Given the description of an element on the screen output the (x, y) to click on. 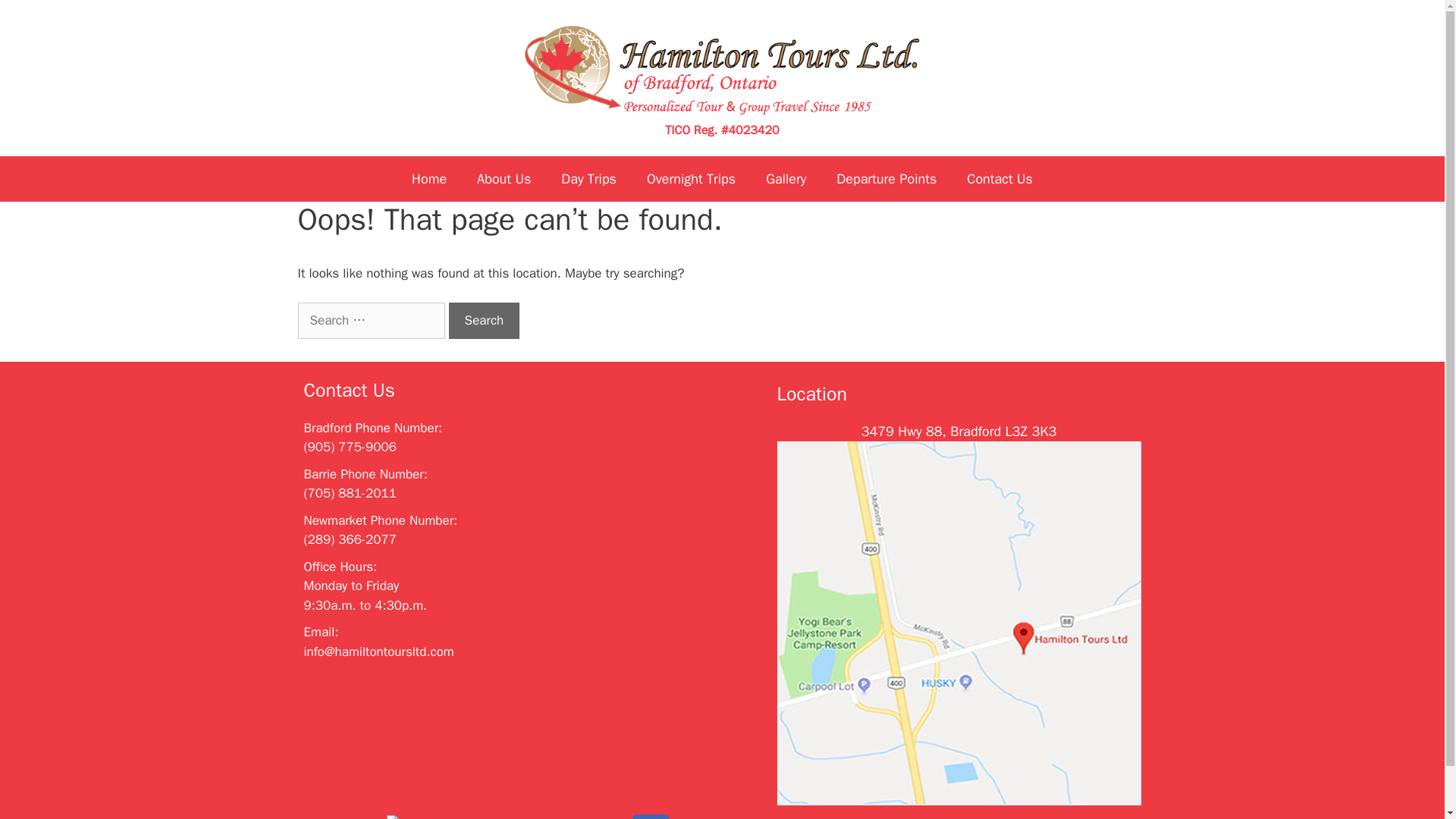
Overnight Trips (691, 178)
Hamilton Tours LTD of Bradford Ontario (722, 70)
Departure Points (886, 178)
Search for: (370, 320)
About Us (503, 178)
Search (483, 320)
Contact Us (1000, 178)
Home (428, 178)
Day Trips (588, 178)
Hamilton Tours LTD of Bradford Ontario (722, 71)
Search (483, 320)
Hamilton Tours LTD of Bradford Ontario on Facebook (649, 816)
Search (483, 320)
Gallery (786, 178)
